Given the description of an element on the screen output the (x, y) to click on. 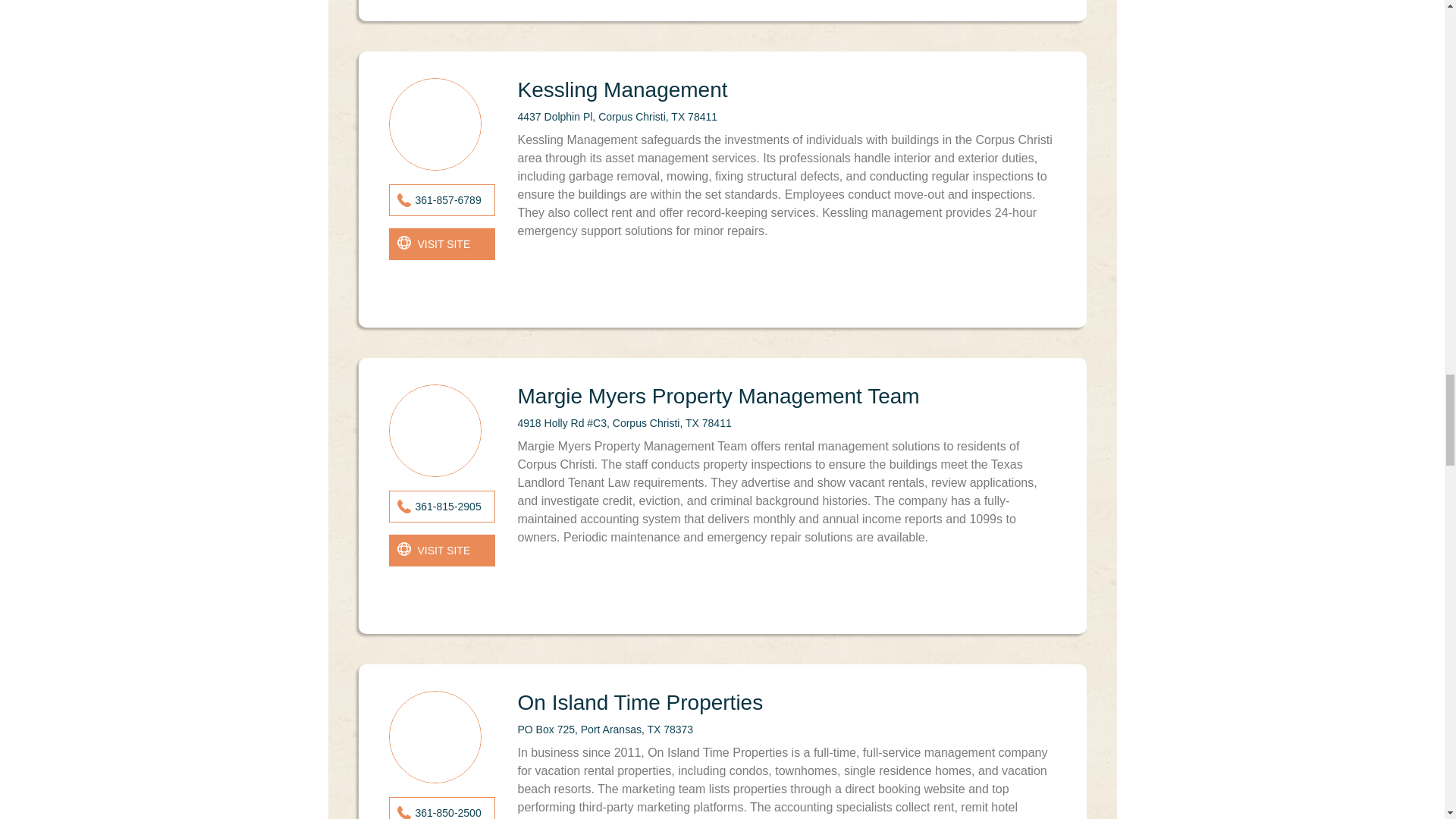
opens in a new window (441, 244)
opens in a new window (441, 550)
